Given the description of an element on the screen output the (x, y) to click on. 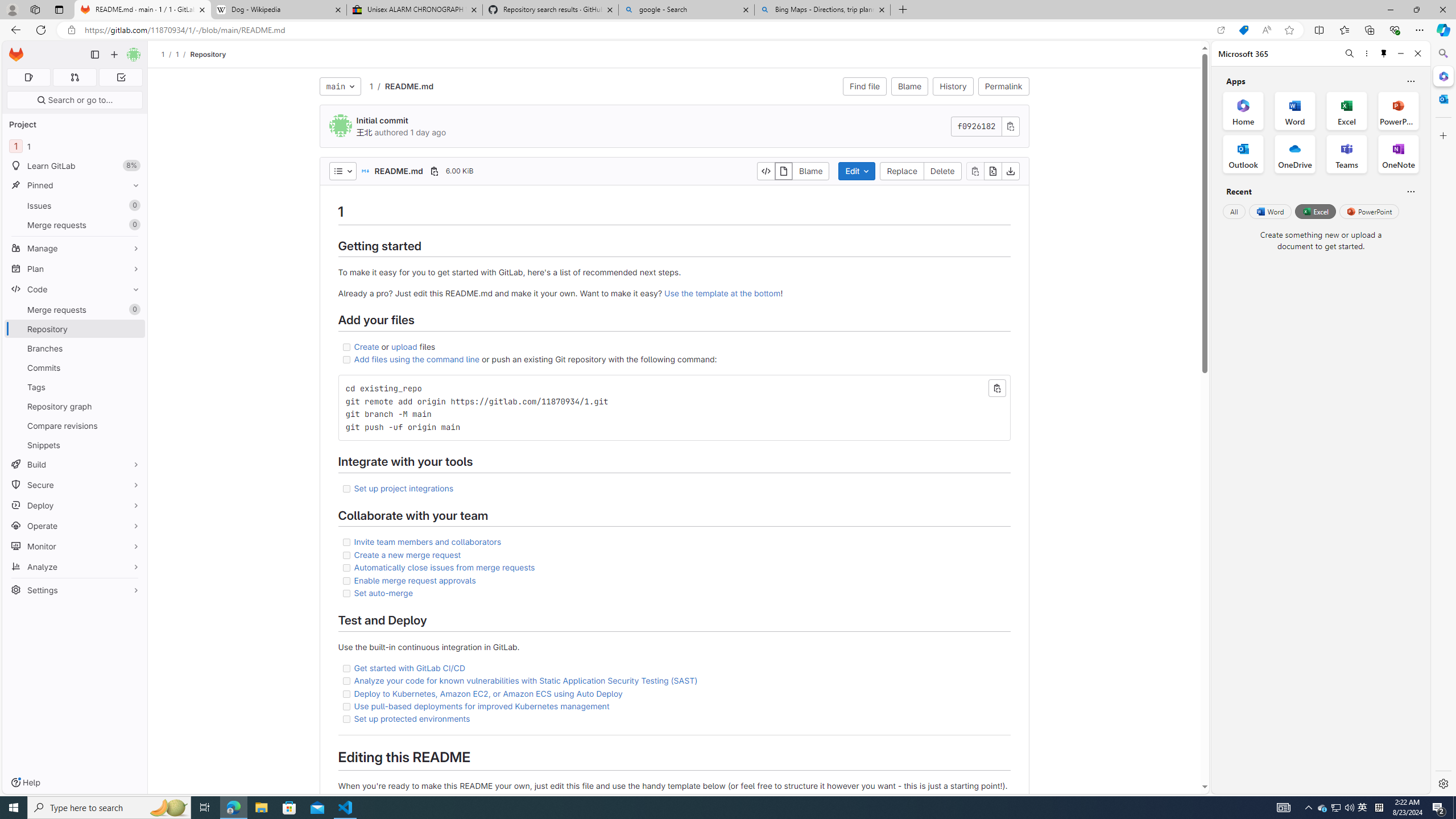
Assigned issues 0 (28, 76)
Automatically close issues from merge requests (444, 567)
Pin Snippets (132, 445)
Enable merge request approvals (673, 580)
